Given the description of an element on the screen output the (x, y) to click on. 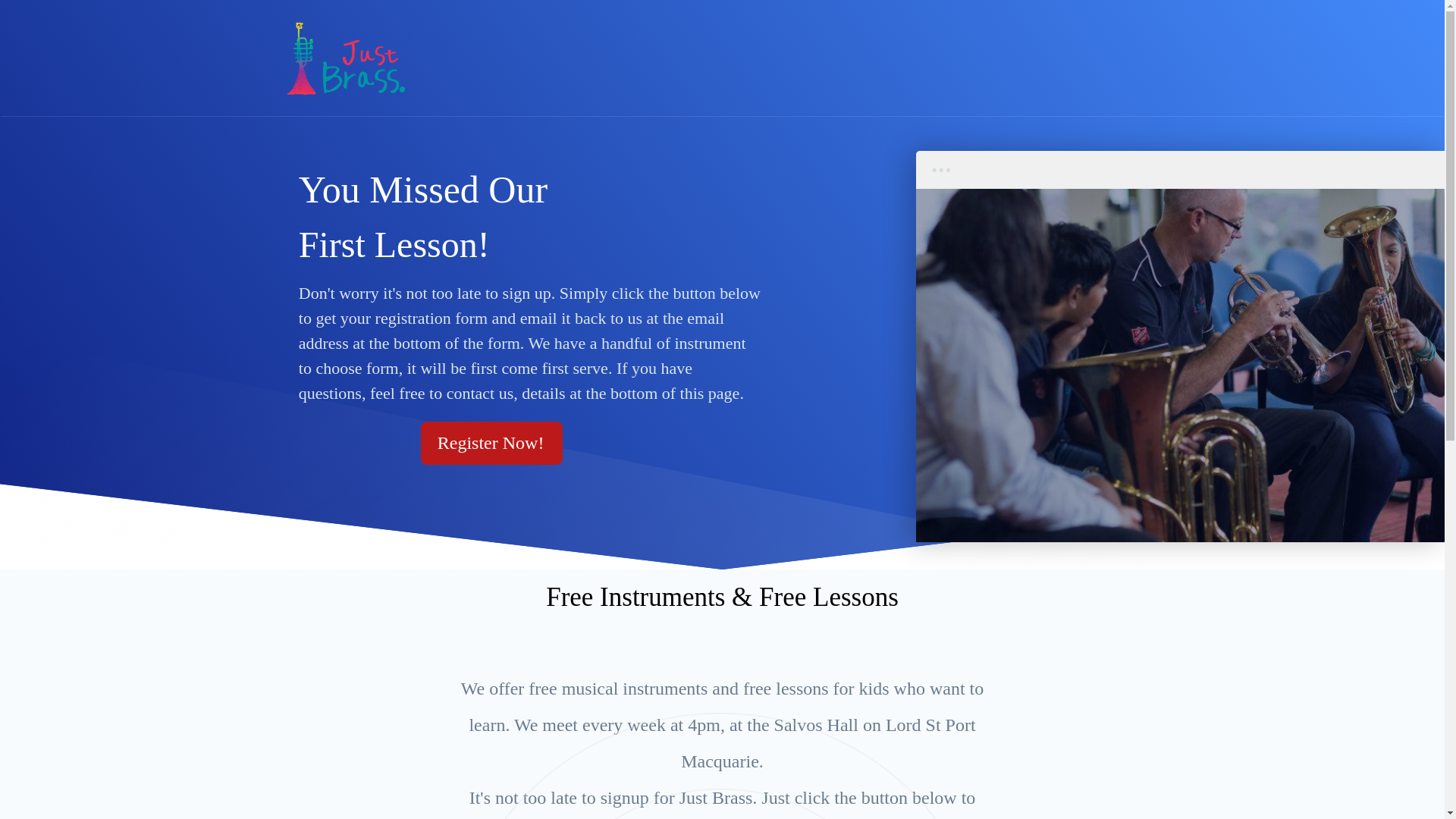
dots Element type: hover (940, 169)
Register Now! Element type: text (491, 442)
JustBrass Element type: hover (345, 59)
